Given the description of an element on the screen output the (x, y) to click on. 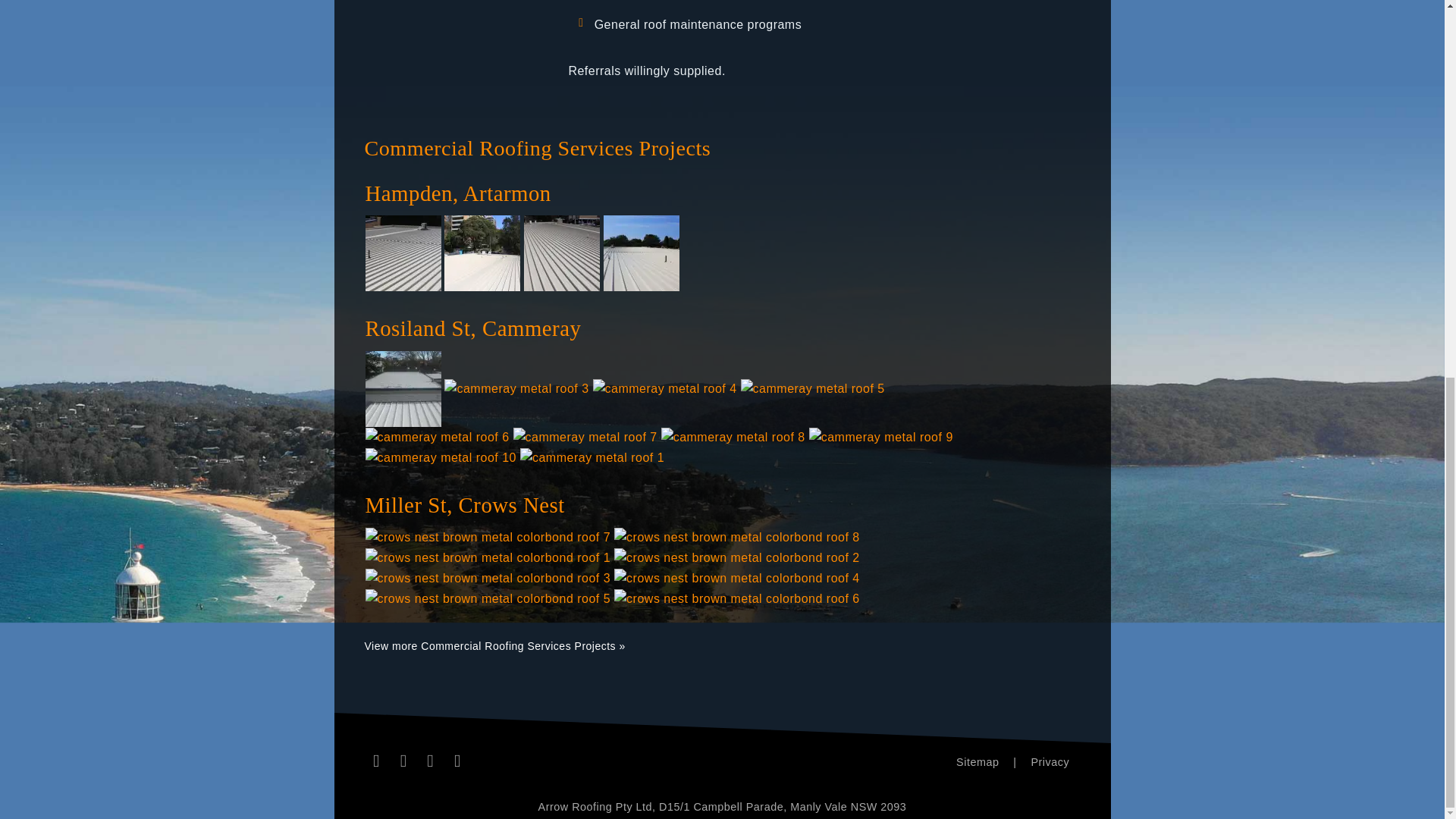
Read our privacy policy (1049, 762)
Hampden, Artarmon (661, 193)
Rosiland St, Cammeray (661, 328)
View sitemap (977, 762)
